Given the description of an element on the screen output the (x, y) to click on. 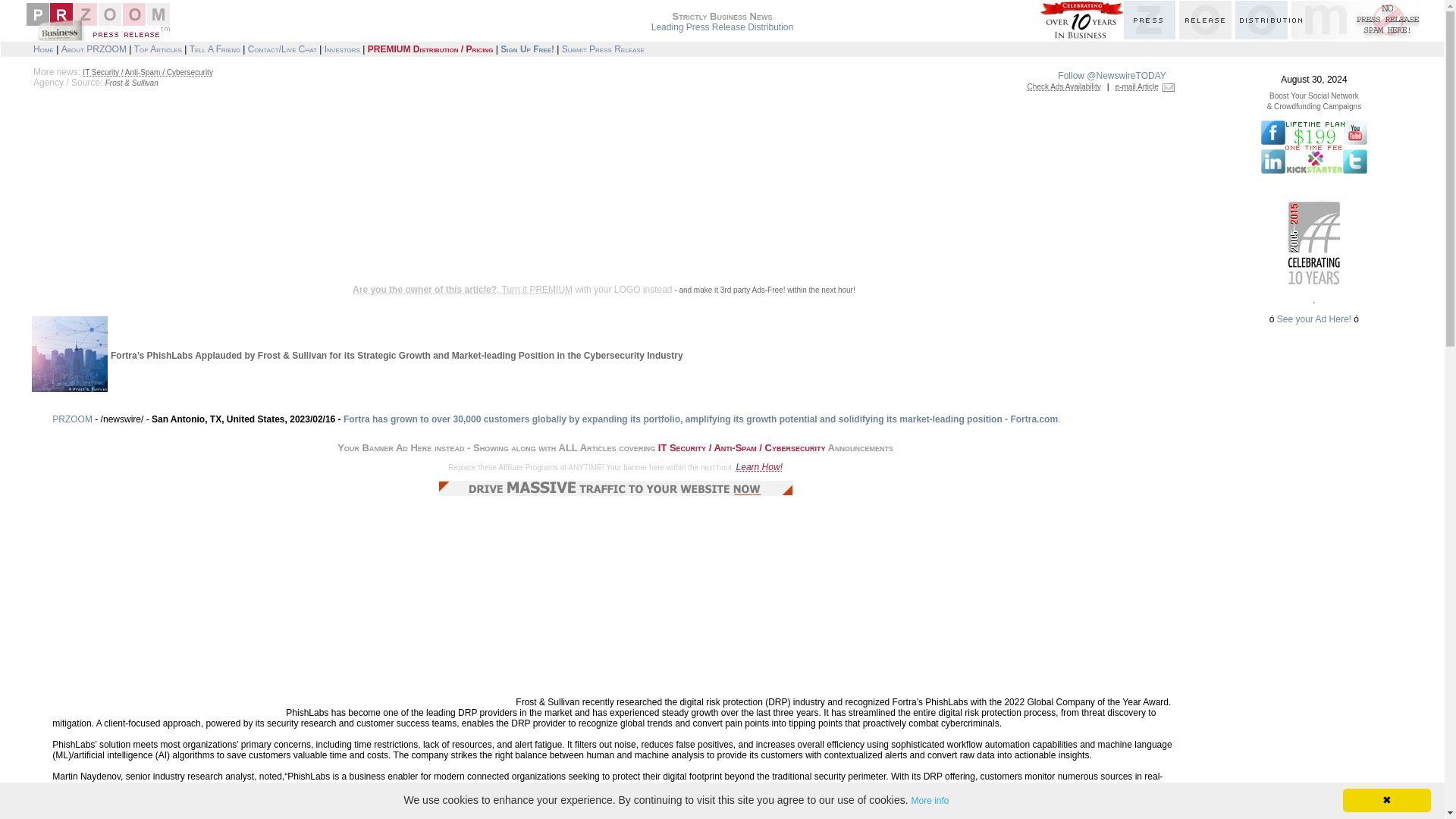
e-mail Article (1136, 85)
Submit Press Release (603, 49)
About PRZOOM (93, 49)
Home (43, 49)
Check Ads Availability (1063, 86)
Sign Up Free! (527, 49)
Tell A Friend (214, 49)
Sign Up FREE! (527, 49)
PRZOOM (72, 419)
Investors (341, 49)
